Given the description of an element on the screen output the (x, y) to click on. 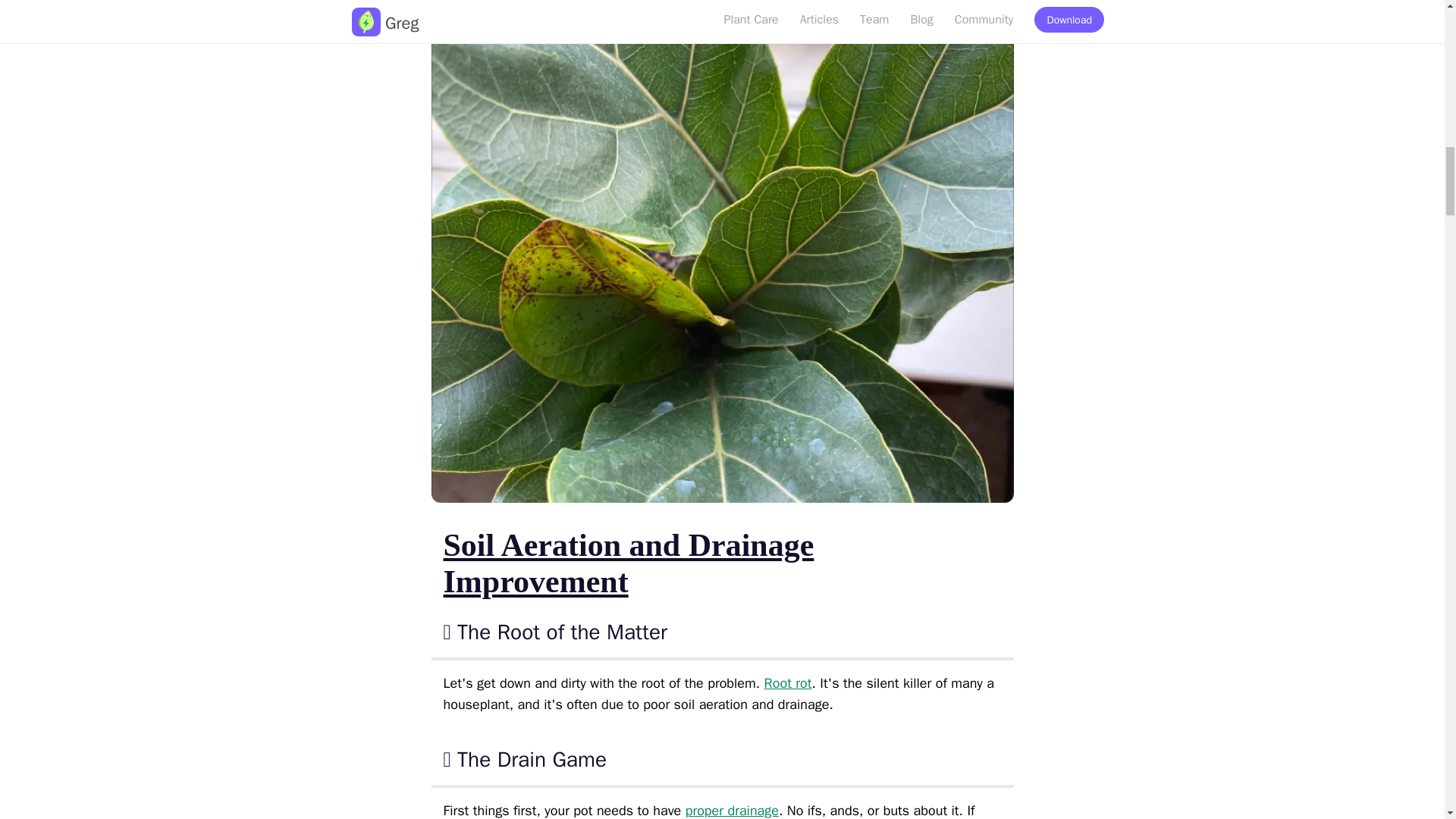
proper drainage (731, 810)
Root rot (788, 682)
